Given the description of an element on the screen output the (x, y) to click on. 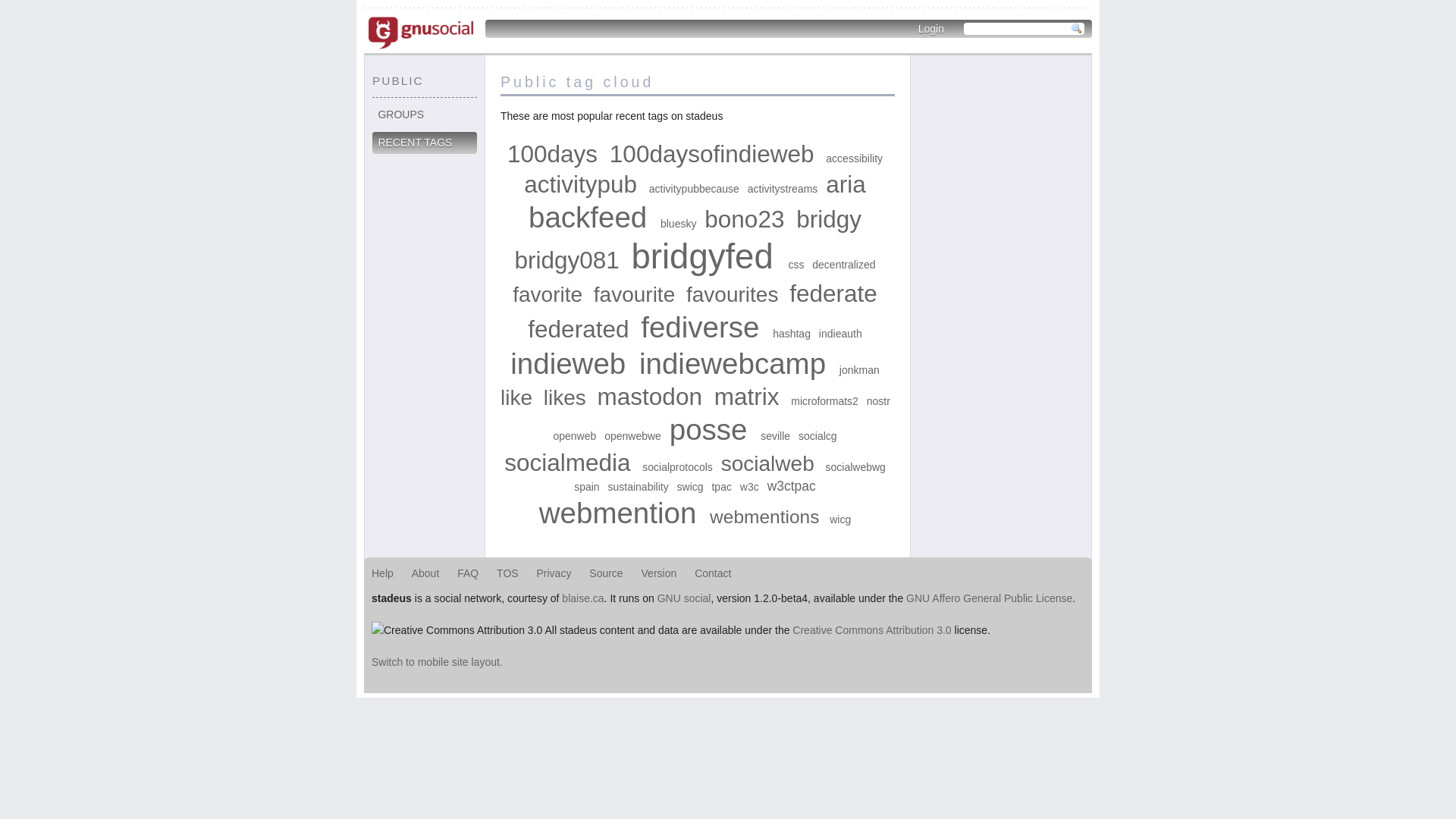
TOS Element type: text (507, 573)
Contact Element type: text (712, 573)
microformats2 Element type: text (824, 401)
wicg Element type: text (839, 519)
Search Element type: text (1076, 28)
openwebwe Element type: text (632, 435)
Source Element type: text (605, 573)
bridgy081 Element type: text (566, 259)
accessibility Element type: text (853, 158)
webmention Element type: text (617, 512)
w3c Element type: text (749, 486)
hashtag Element type: text (791, 333)
Privacy Element type: text (553, 573)
federated Element type: text (577, 328)
decentralized Element type: text (843, 264)
socialprotocols Element type: text (677, 467)
tpac Element type: text (721, 486)
Creative Commons Attribution 3.0 Element type: text (871, 630)
activitypubbecause Element type: text (694, 188)
bluesky Element type: text (678, 223)
blaise.ca Element type: text (582, 598)
Help Element type: text (382, 573)
About Element type: text (425, 573)
seville Element type: text (775, 435)
fediverse Element type: text (699, 326)
swicg Element type: text (690, 486)
federate Element type: text (833, 293)
Switch to mobile site layout. Element type: text (436, 661)
mastodon Element type: text (649, 396)
css Element type: text (795, 264)
100days Element type: text (552, 153)
spain Element type: text (586, 486)
posse Element type: text (708, 429)
aria Element type: text (845, 183)
favourite Element type: text (633, 294)
webmentions Element type: text (764, 516)
openweb Element type: text (574, 435)
bridgy Element type: text (828, 218)
Login Element type: text (930, 28)
favorite Element type: text (547, 294)
FAQ Element type: text (467, 573)
socialmedia Element type: text (567, 462)
socialcg Element type: text (817, 435)
GNU Affero General Public License Element type: text (989, 598)
GNU social Element type: text (684, 598)
indiewebcamp Element type: text (732, 363)
w3ctpac Element type: text (791, 485)
socialwebwg Element type: text (854, 467)
matrix Element type: text (746, 396)
indieweb Element type: text (567, 363)
Version Element type: text (659, 573)
100daysofindieweb Element type: text (711, 153)
jonkman Element type: text (859, 370)
activitypub Element type: text (580, 183)
backfeed Element type: text (587, 216)
RECENT TAGS Element type: text (424, 142)
indieauth Element type: text (840, 333)
nostr Element type: text (878, 401)
like Element type: text (516, 397)
bridgyfed Element type: text (702, 256)
sustainability Element type: text (638, 486)
likes Element type: text (564, 397)
favourites Element type: text (732, 294)
GROUPS Element type: text (424, 114)
bono23 Element type: text (744, 218)
activitystreams Element type: text (782, 188)
socialweb Element type: text (767, 463)
